Given the description of an element on the screen output the (x, y) to click on. 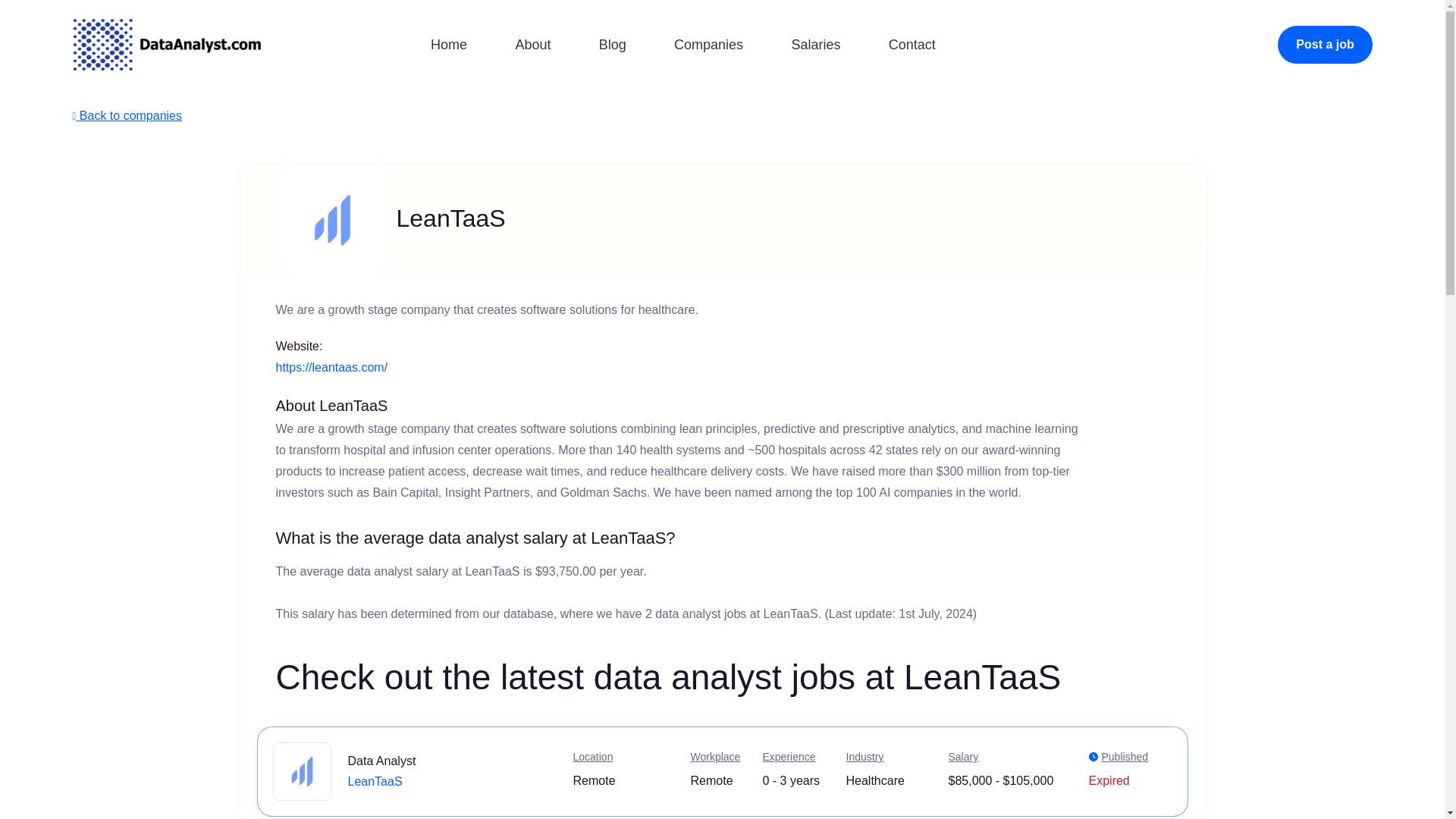
Post a job (1324, 44)
About (532, 45)
Home (448, 45)
Contact (912, 45)
Salaries (815, 45)
Companies (708, 44)
Blog (612, 45)
